Given the description of an element on the screen output the (x, y) to click on. 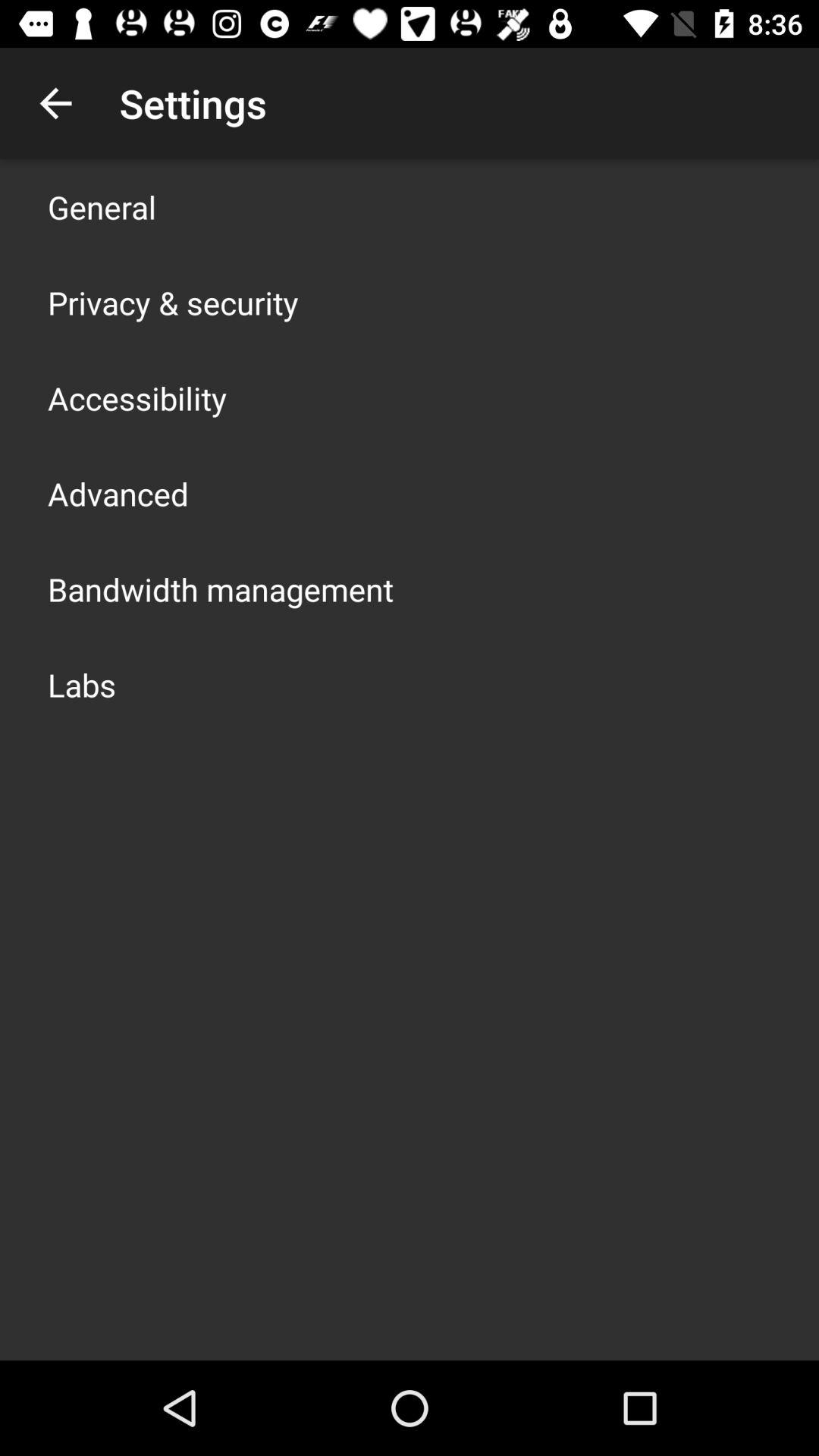
jump to labs item (81, 684)
